Given the description of an element on the screen output the (x, y) to click on. 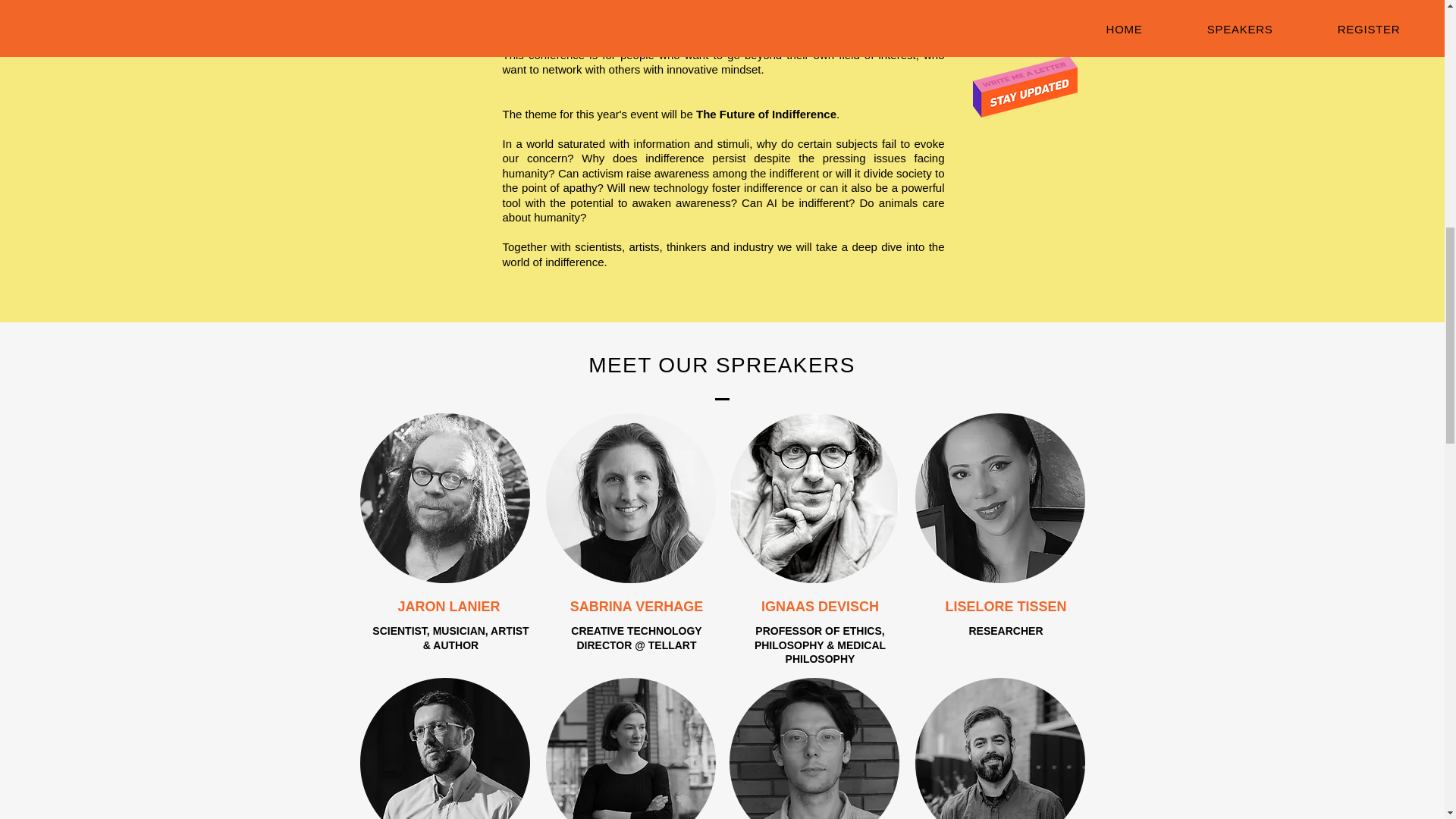
JARON LANIER  (450, 606)
IGNAAS DEVISCH (820, 606)
SABRINA VERHAGE (636, 606)
LISELORE TISSEN (1004, 606)
